Given the description of an element on the screen output the (x, y) to click on. 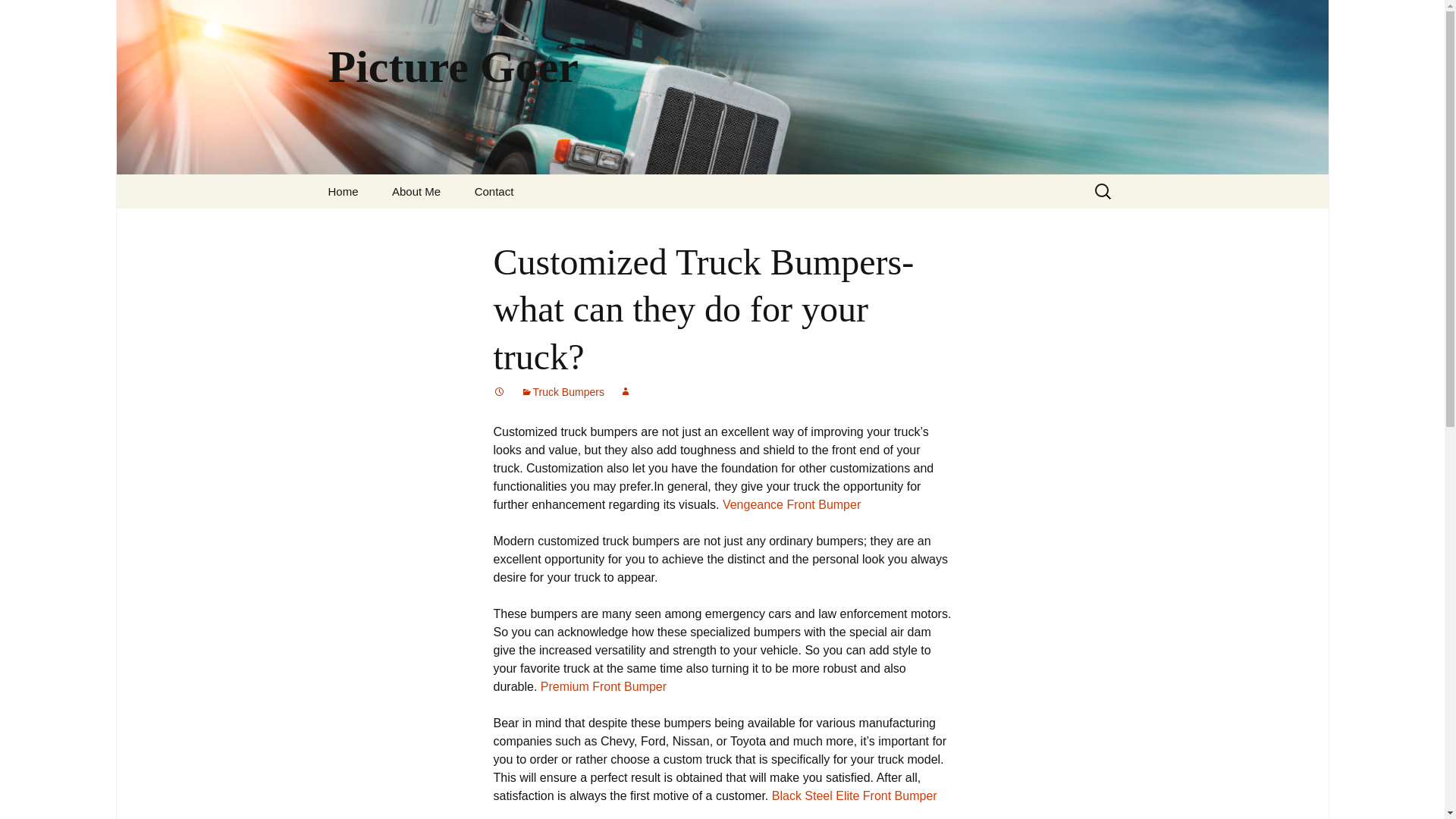
Premium Front Bumper (603, 686)
Black Steel Elite Front Bumper (854, 795)
Contact (494, 191)
Truck Bumpers (561, 391)
Vengeance Front Bumper (791, 504)
About Me (416, 191)
Search (18, 15)
View all posts by  (625, 391)
